Given the description of an element on the screen output the (x, y) to click on. 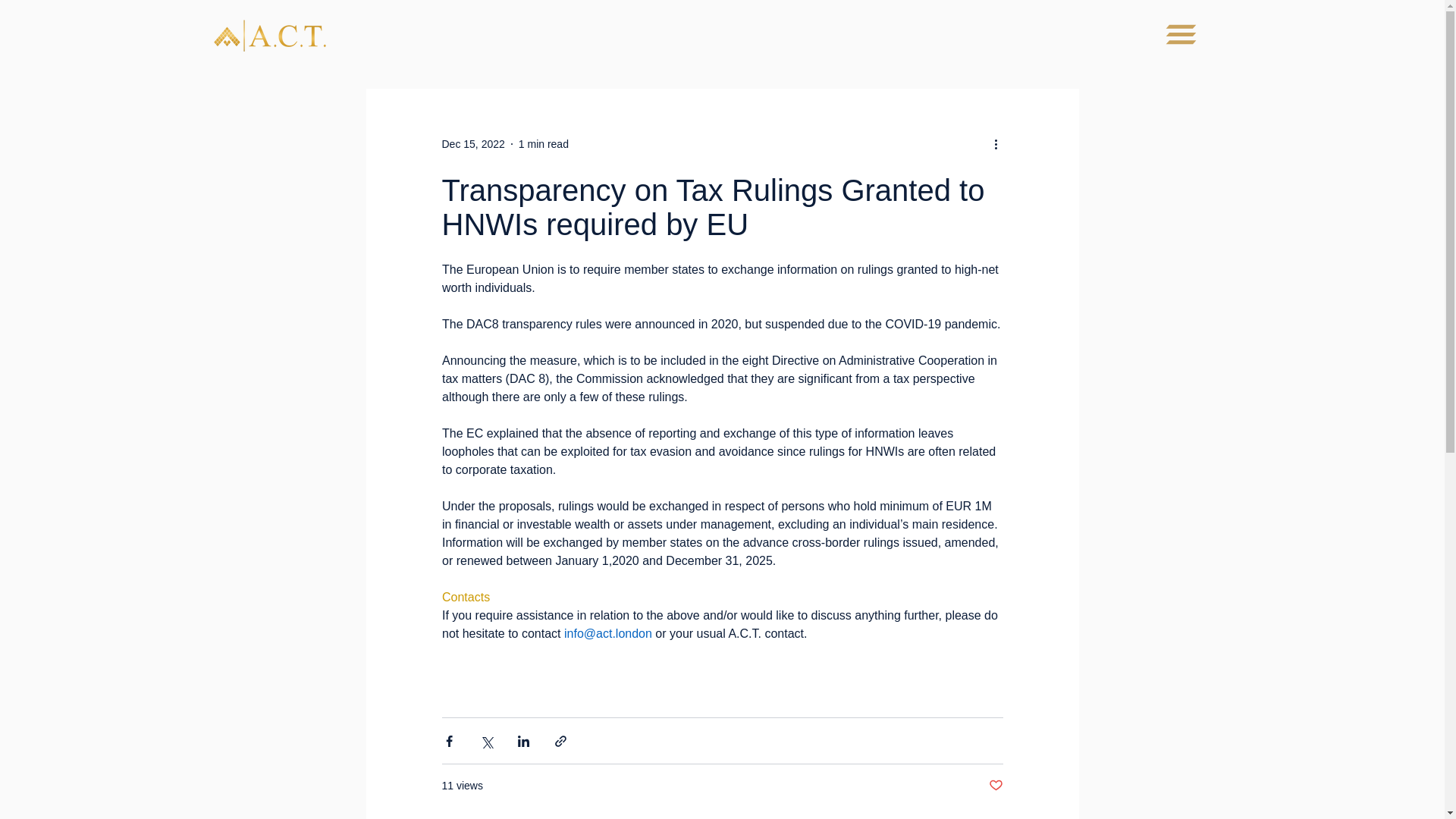
1 min read (543, 143)
Post not marked as liked (995, 785)
Dec 15, 2022 (472, 143)
